Given the description of an element on the screen output the (x, y) to click on. 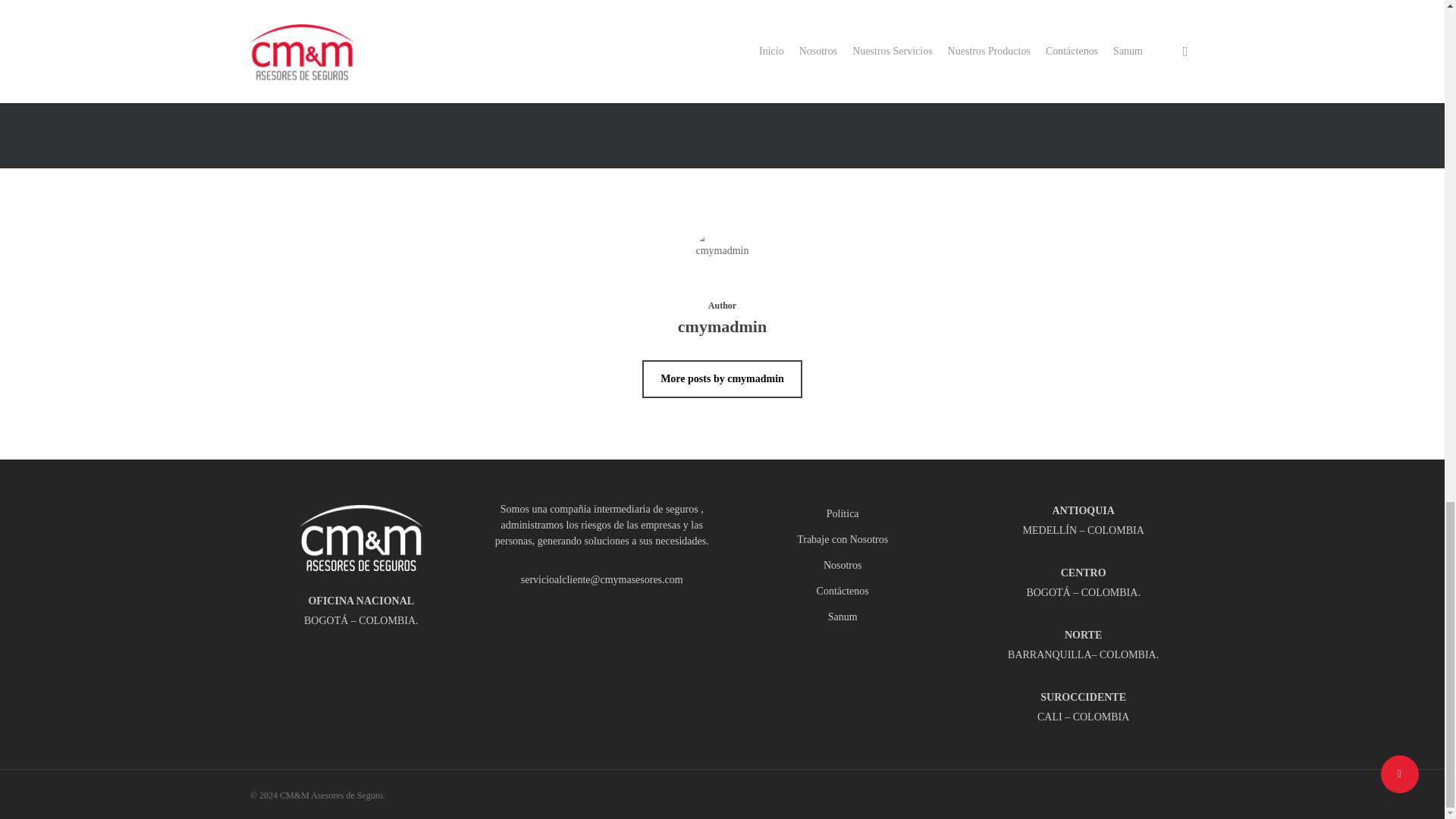
Nosotros (842, 565)
SBOBET Relevant Articles (722, 84)
Trabaje con Nosotros (842, 539)
Sanum (842, 617)
More posts by cmymadmin (722, 379)
